Given the description of an element on the screen output the (x, y) to click on. 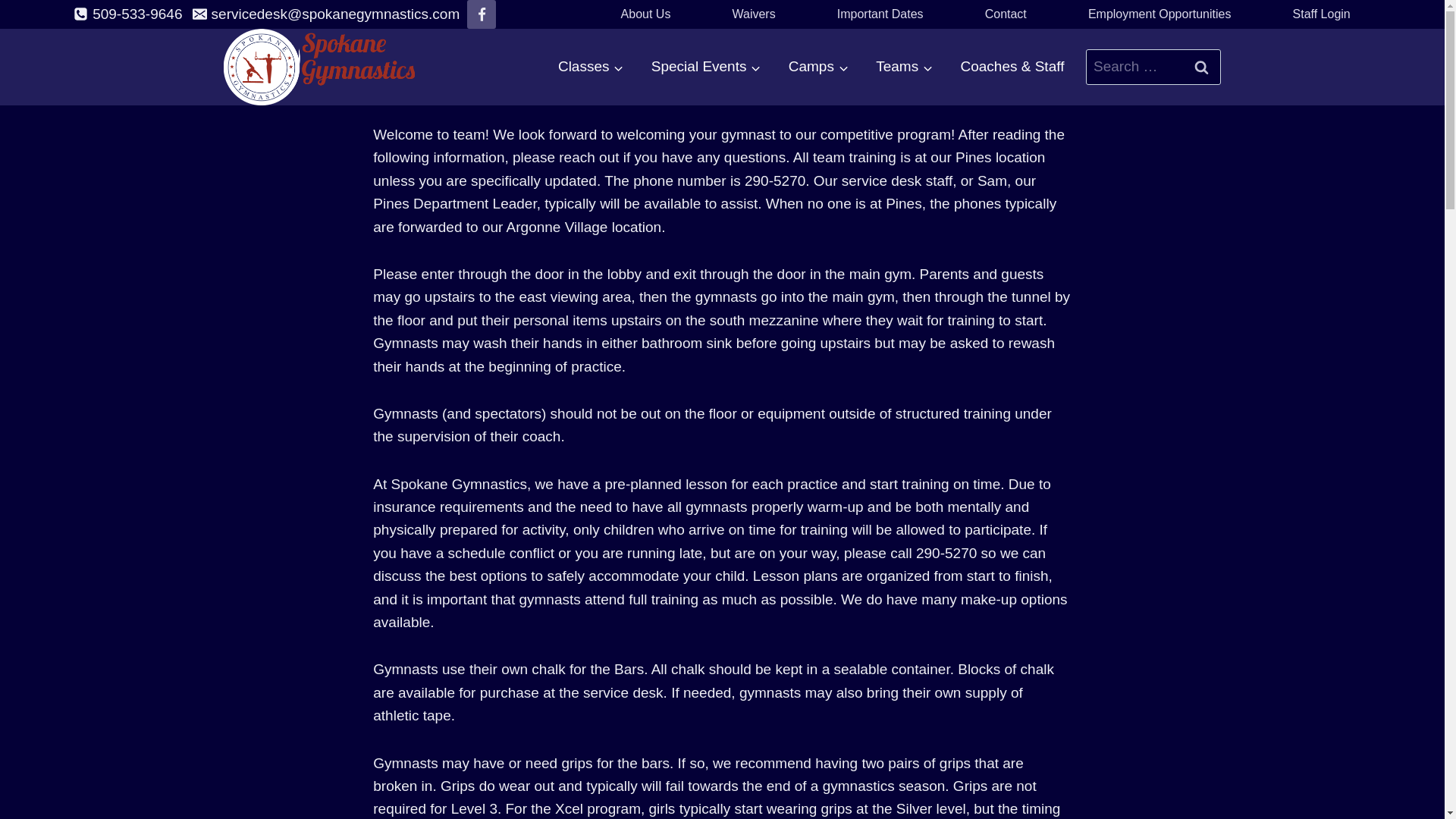
Camps (817, 66)
Important Dates (879, 13)
Special Events (705, 66)
Contact (1004, 13)
Employment Opportunities (1158, 13)
Staff Login (1321, 13)
About Us (644, 13)
Teams (903, 66)
Waivers (753, 13)
Search (1201, 67)
Search (1201, 67)
Classes (590, 66)
